Given the description of an element on the screen output the (x, y) to click on. 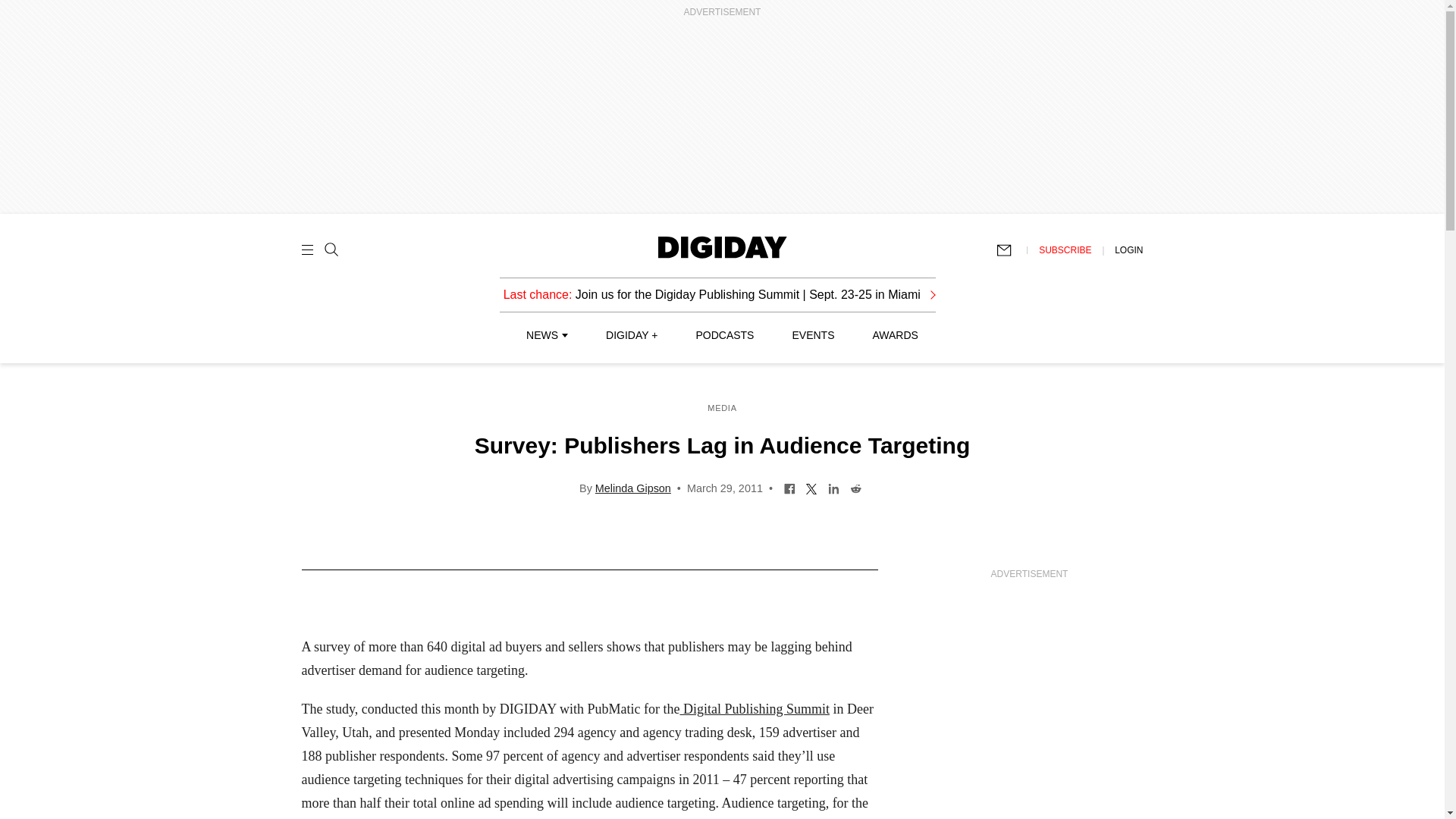
AWARDS (894, 335)
3rd party ad content (1028, 702)
Share on Reddit (854, 487)
SUBSCRIBE (1064, 249)
Share on Facebook (789, 487)
EVENTS (813, 335)
NEWS (546, 335)
Share on Twitter (811, 487)
PODCASTS (725, 335)
